Given the description of an element on the screen output the (x, y) to click on. 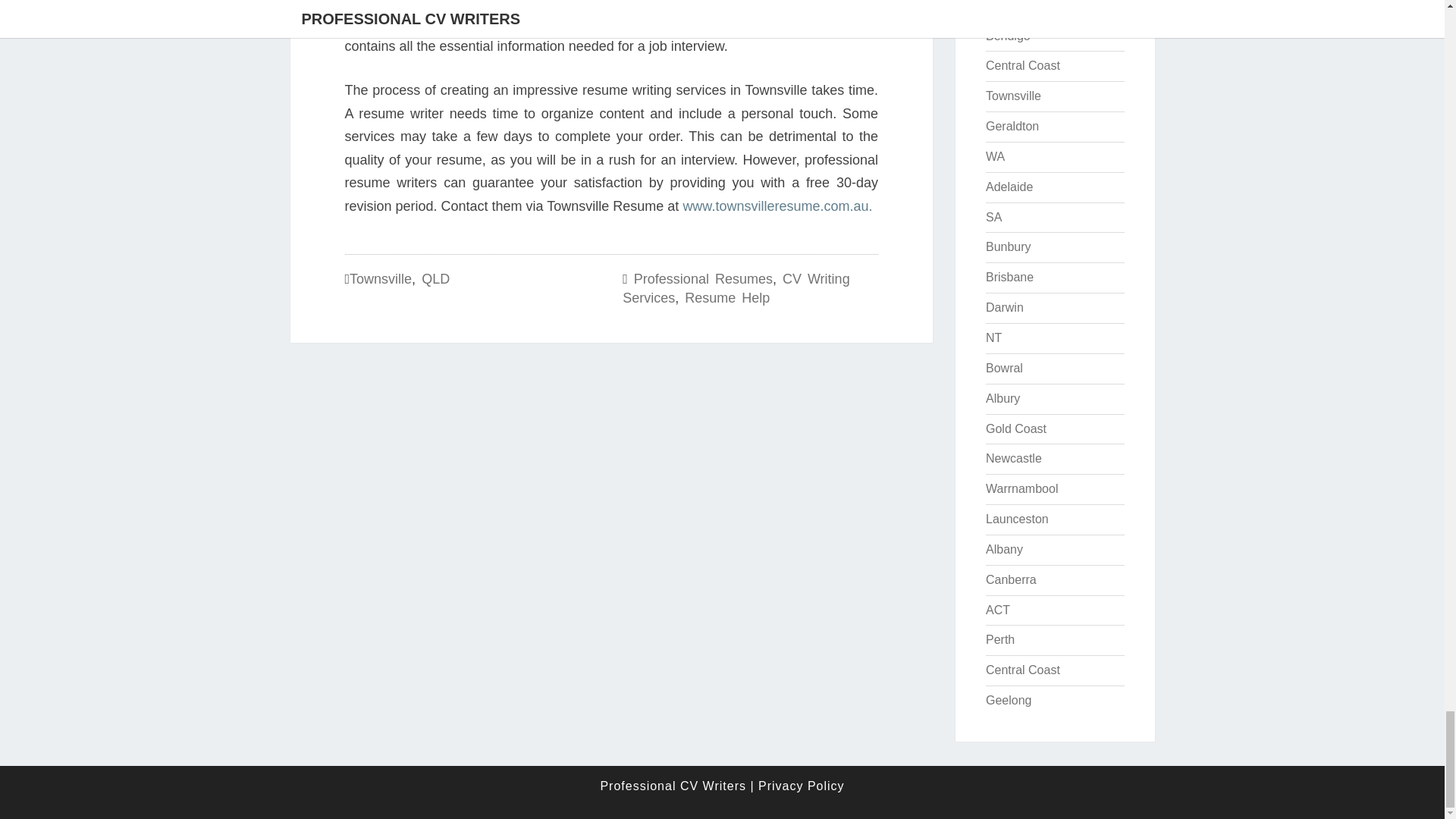
www.townsvilleresume.com.au. (777, 206)
QLD (435, 278)
Professional Resumes (703, 278)
CV Writing Services (735, 288)
Townsville (380, 278)
Resume Help (727, 297)
